Given the description of an element on the screen output the (x, y) to click on. 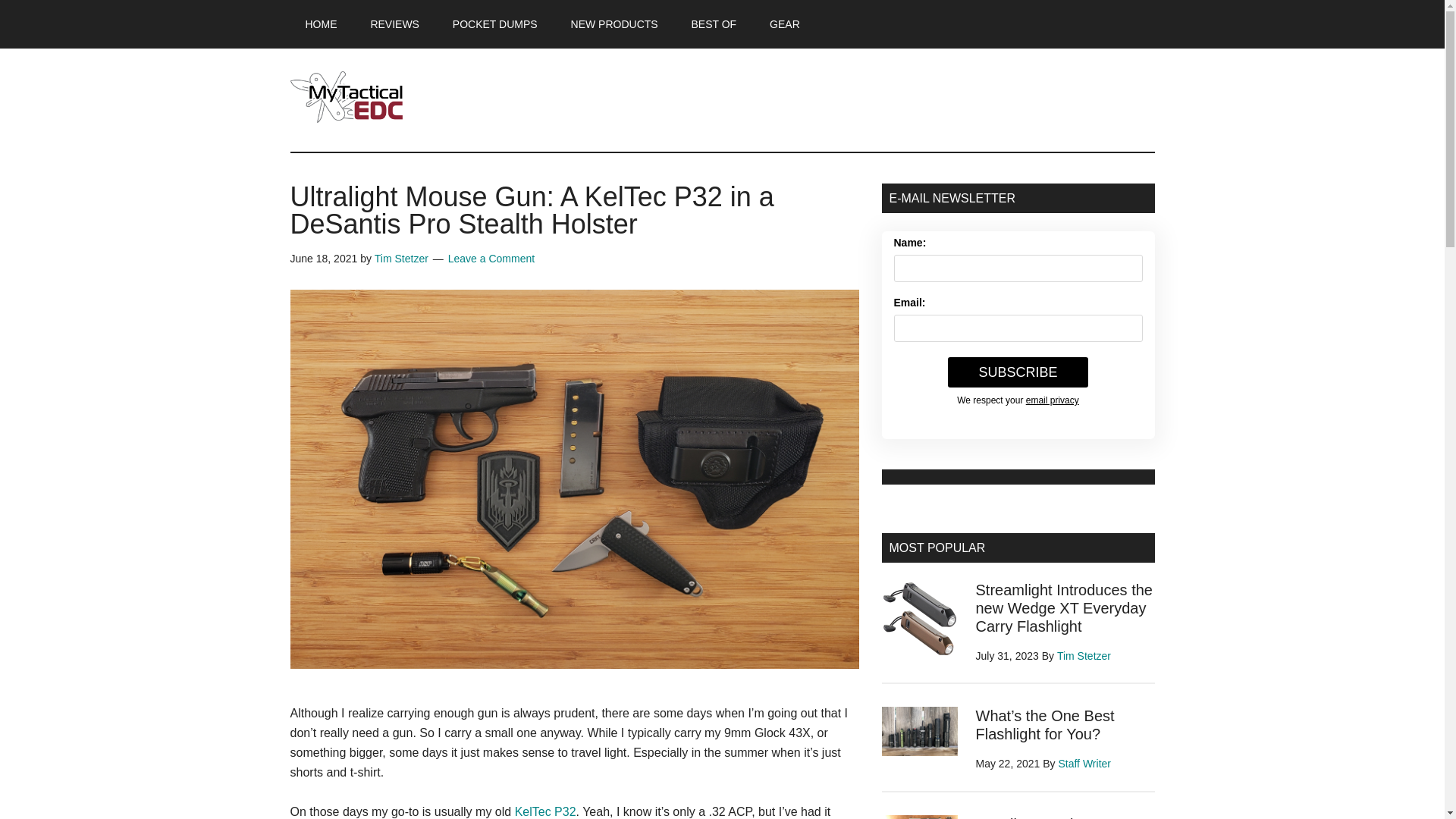
KelTec P32 (545, 811)
REVIEWS (394, 24)
SUBSCRIBE (1017, 372)
HOME (320, 24)
Leave a Comment (491, 258)
POCKET DUMPS (495, 24)
NEW PRODUCTS (614, 24)
BEST OF (714, 24)
Tim Stetzer (401, 258)
